Given the description of an element on the screen output the (x, y) to click on. 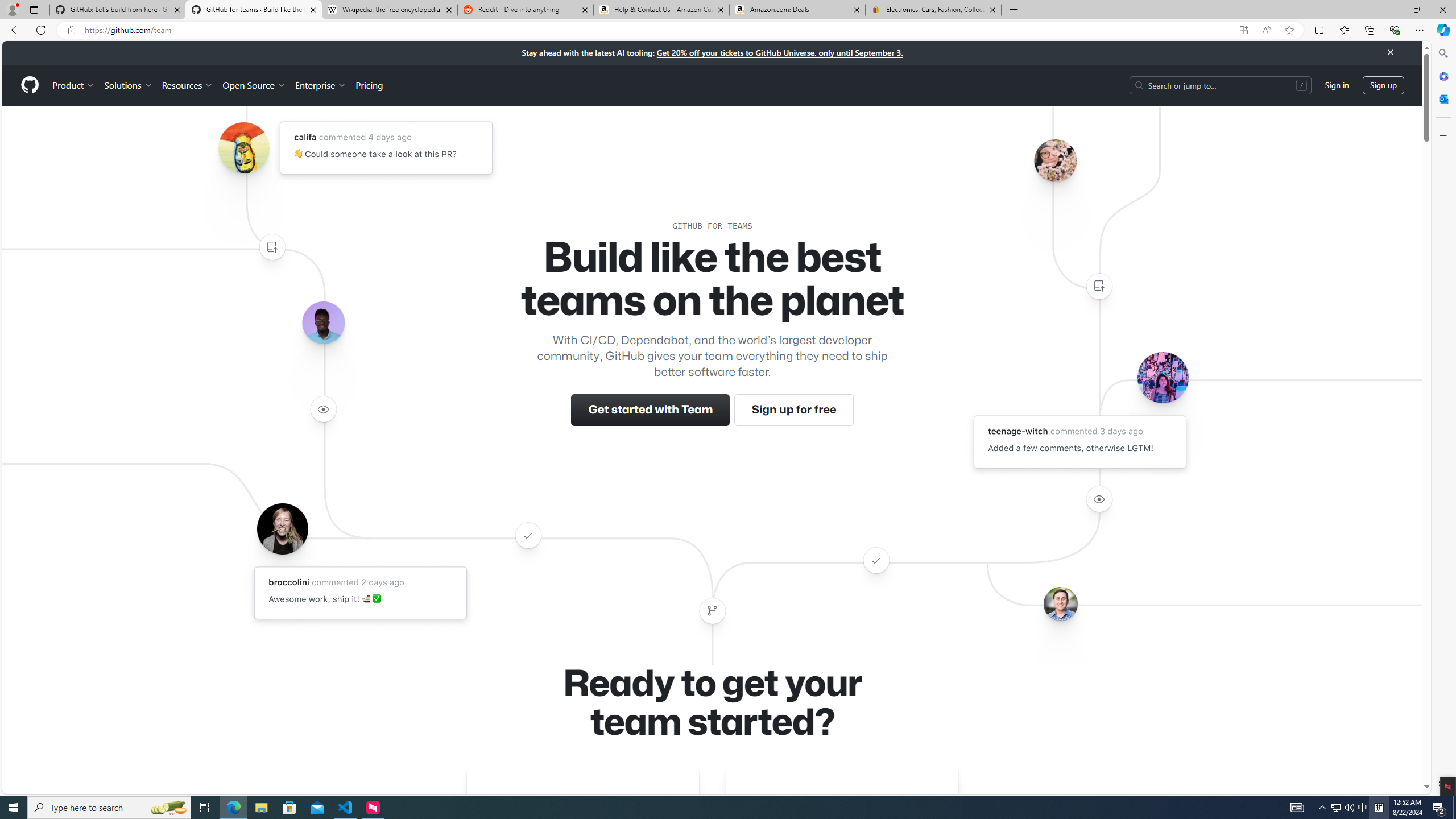
Avatar of the user lerebear (323, 322)
Sign in (1336, 84)
Wikipedia, the free encyclopedia (390, 9)
Open Source (254, 84)
Avatar of the user broccolini (282, 528)
